Given the description of an element on the screen output the (x, y) to click on. 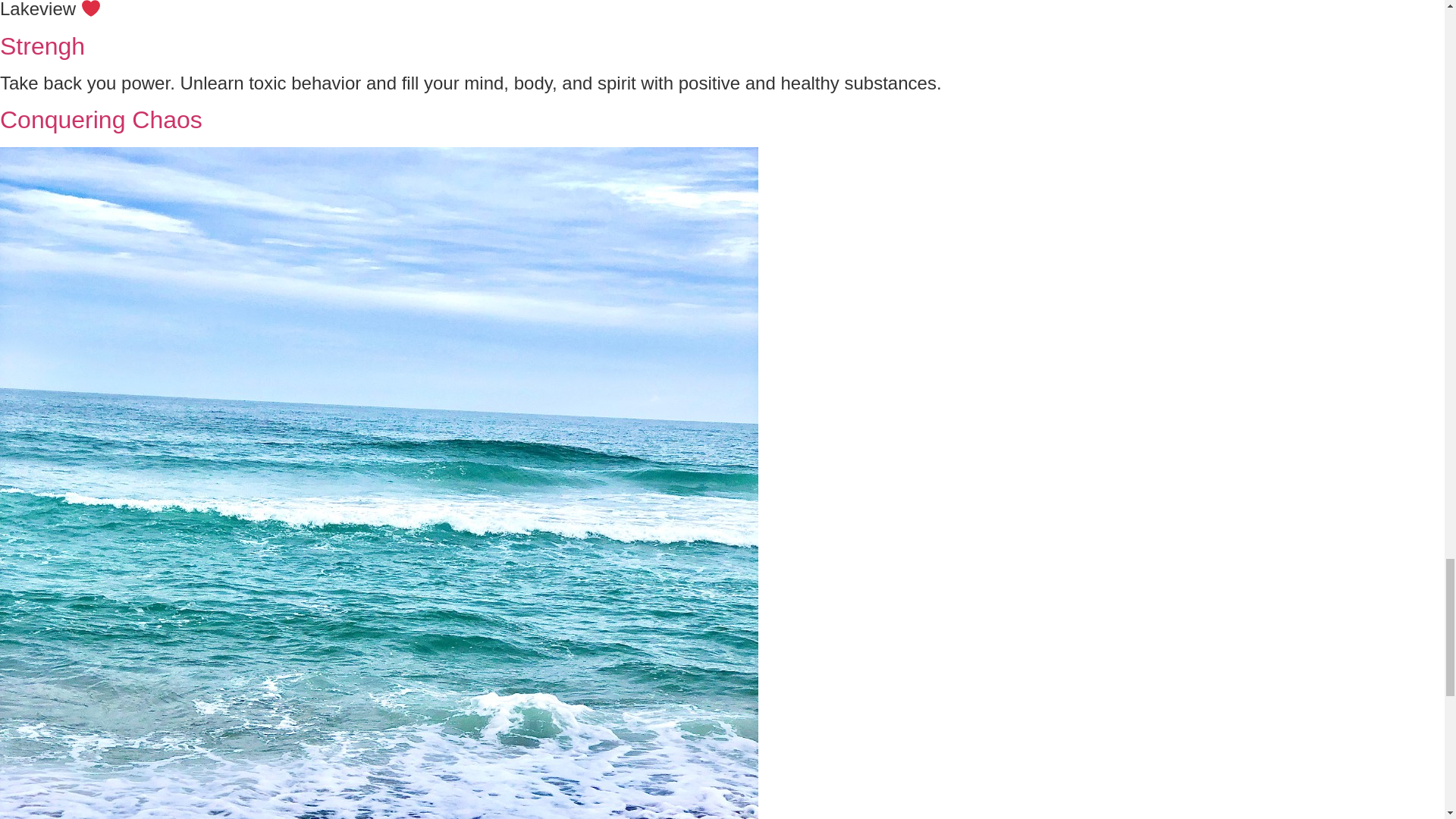
Strengh (42, 45)
